Given the description of an element on the screen output the (x, y) to click on. 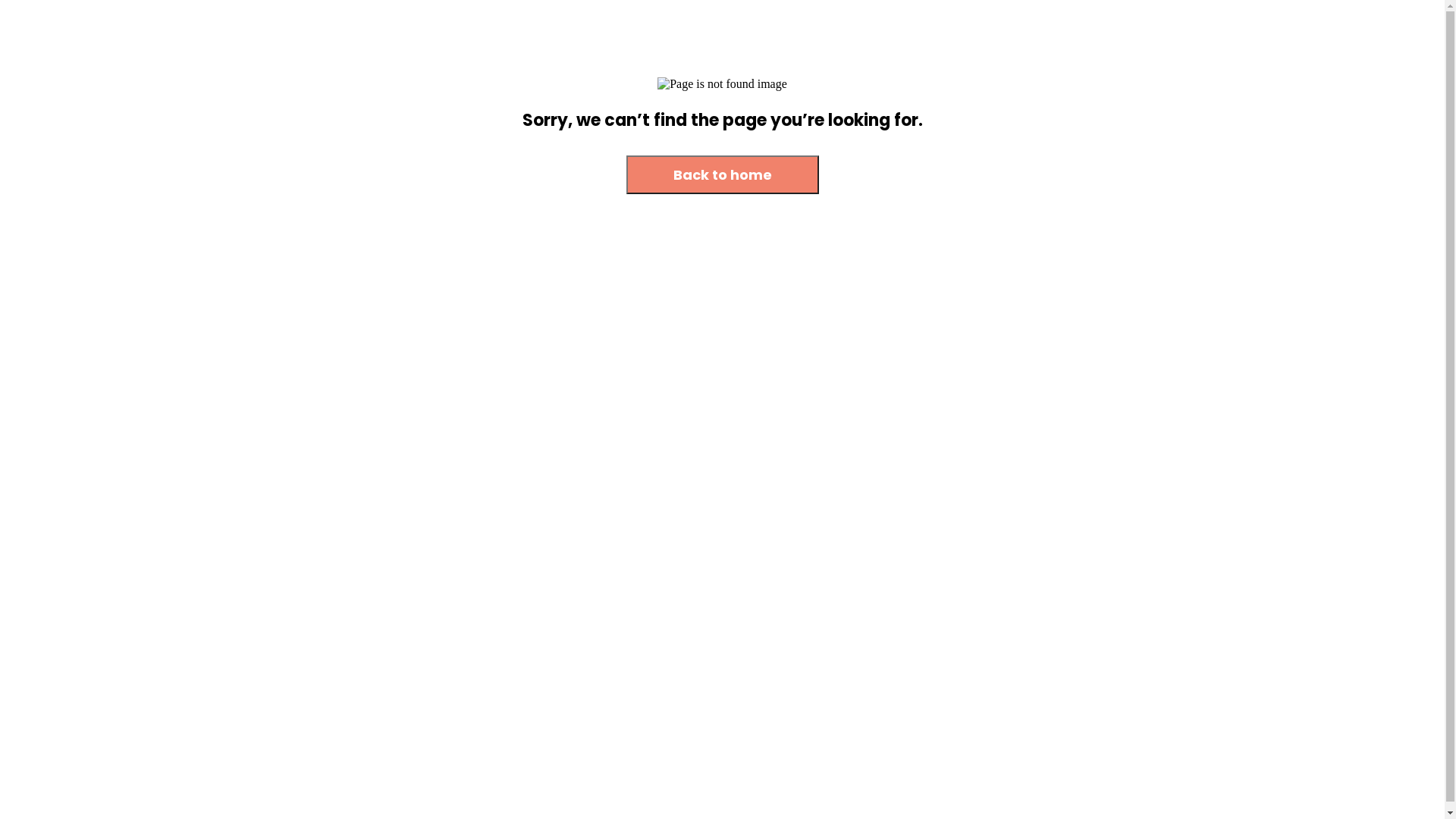
Back to home Element type: text (722, 174)
Back to home Element type: text (722, 175)
